Given the description of an element on the screen output the (x, y) to click on. 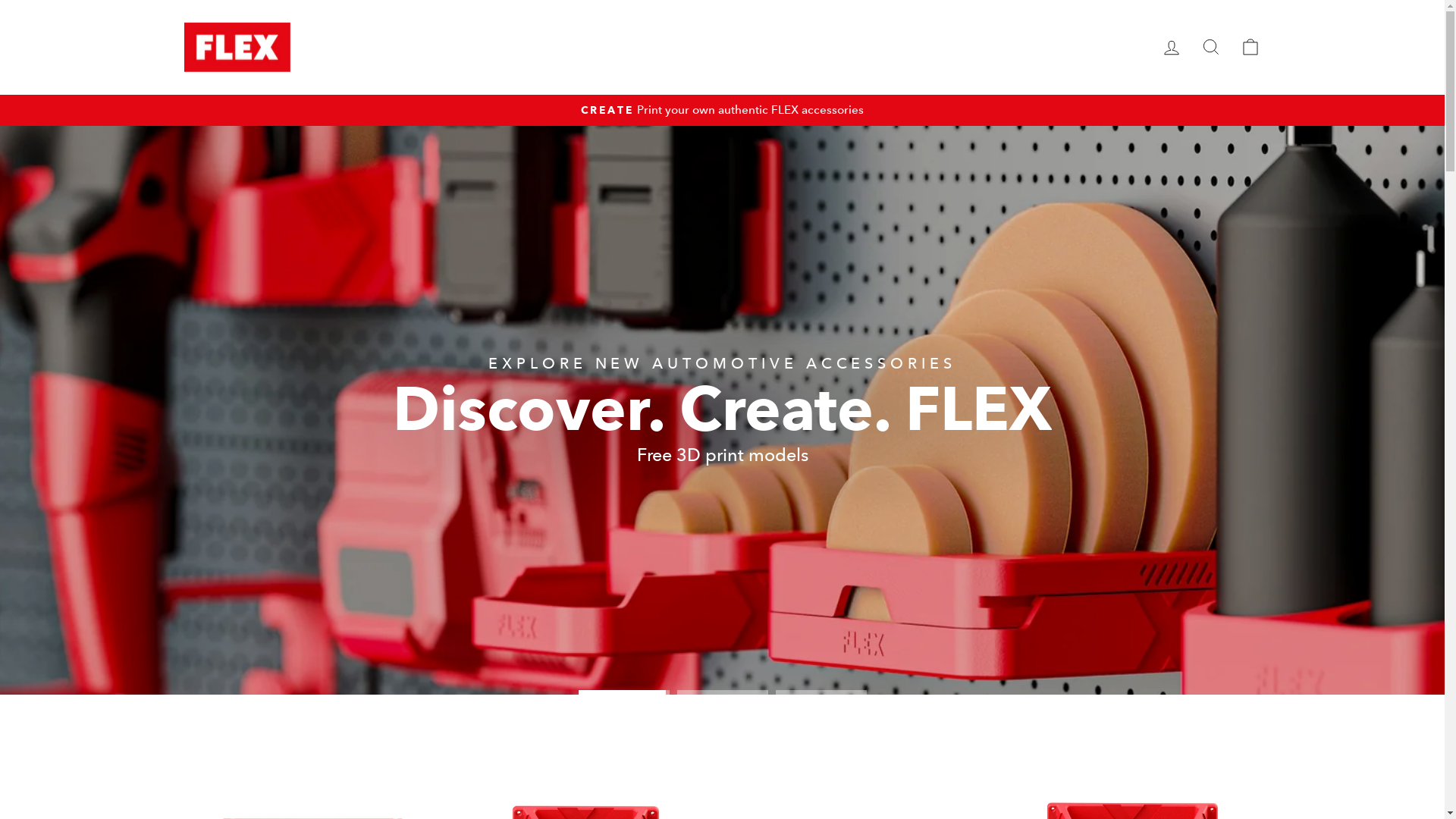
SEARCH Element type: text (1210, 47)
CART Element type: text (1249, 47)
LOG IN Element type: text (1170, 47)
